Given the description of an element on the screen output the (x, y) to click on. 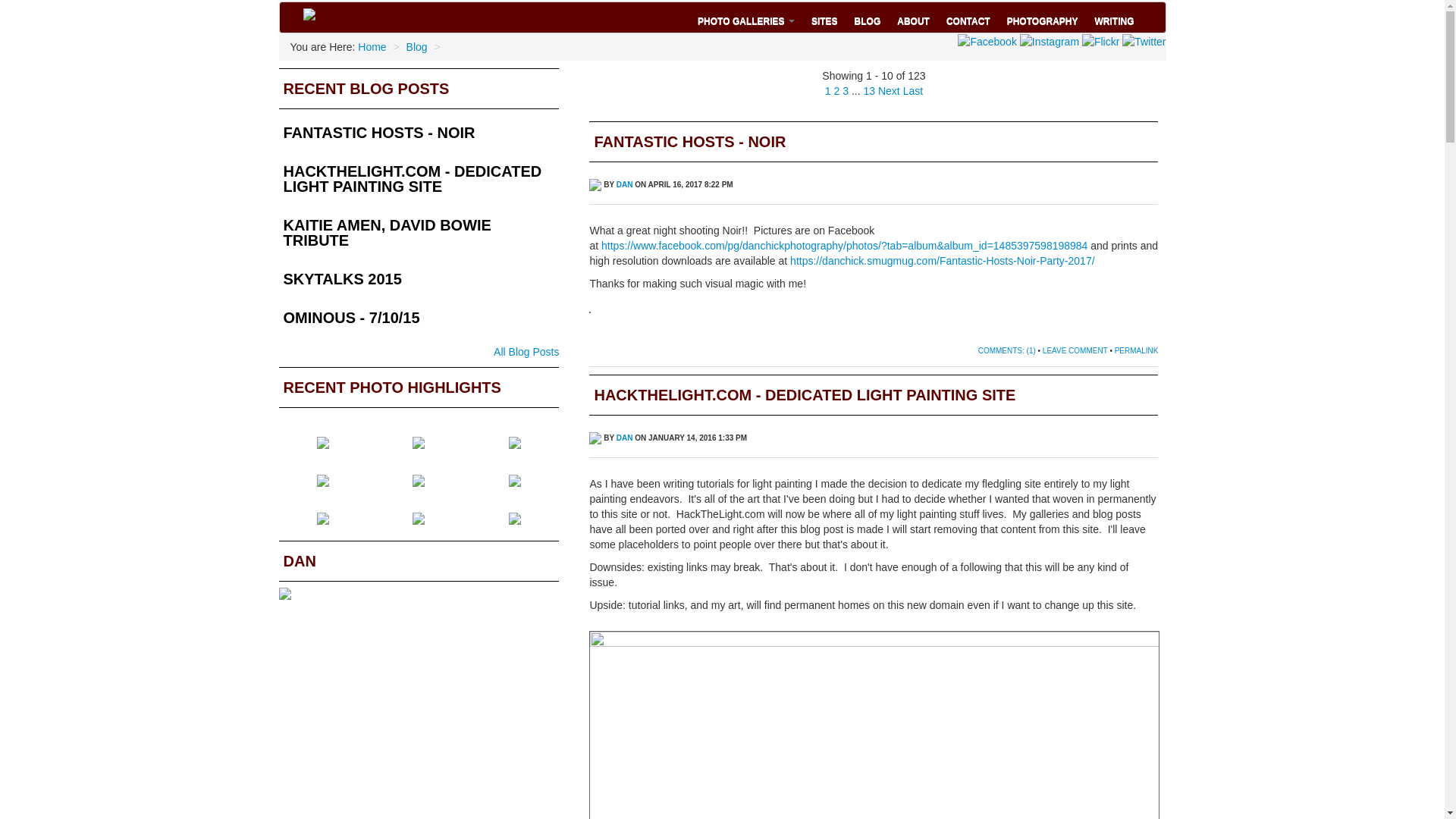
FANTASTIC HOSTS - NOIR (419, 137)
BLOG (867, 17)
SKYTALKS 2015 (419, 284)
WRITING (1113, 17)
PHOTO GALLERIES (745, 17)
CONTACT (967, 17)
SITES (824, 17)
Home (371, 46)
PHOTOGRAPHY (1042, 17)
KAITIE AMEN, DAVID BOWIE TRIBUTE (419, 237)
